Given the description of an element on the screen output the (x, y) to click on. 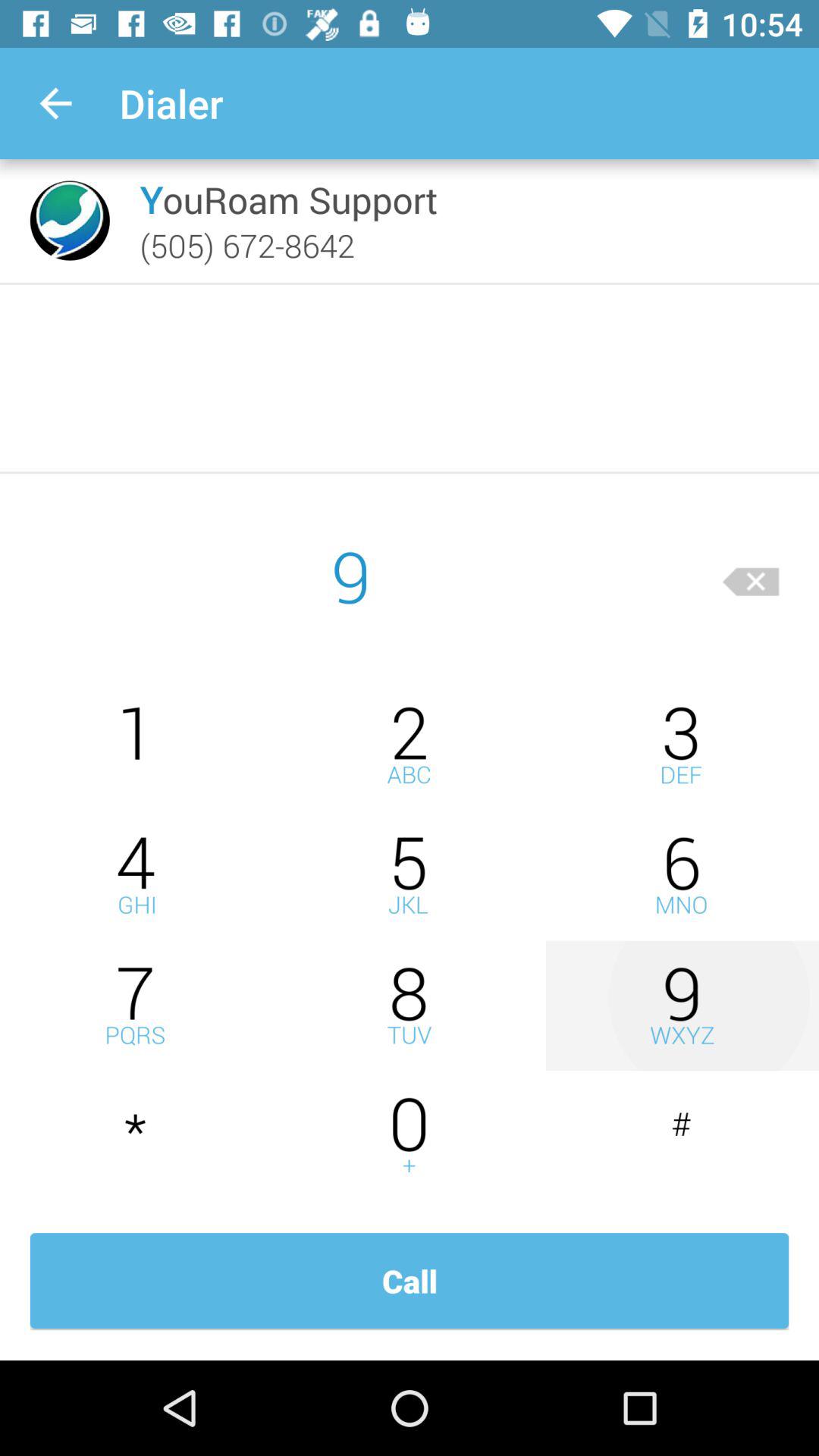
press star key (136, 1135)
